Given the description of an element on the screen output the (x, y) to click on. 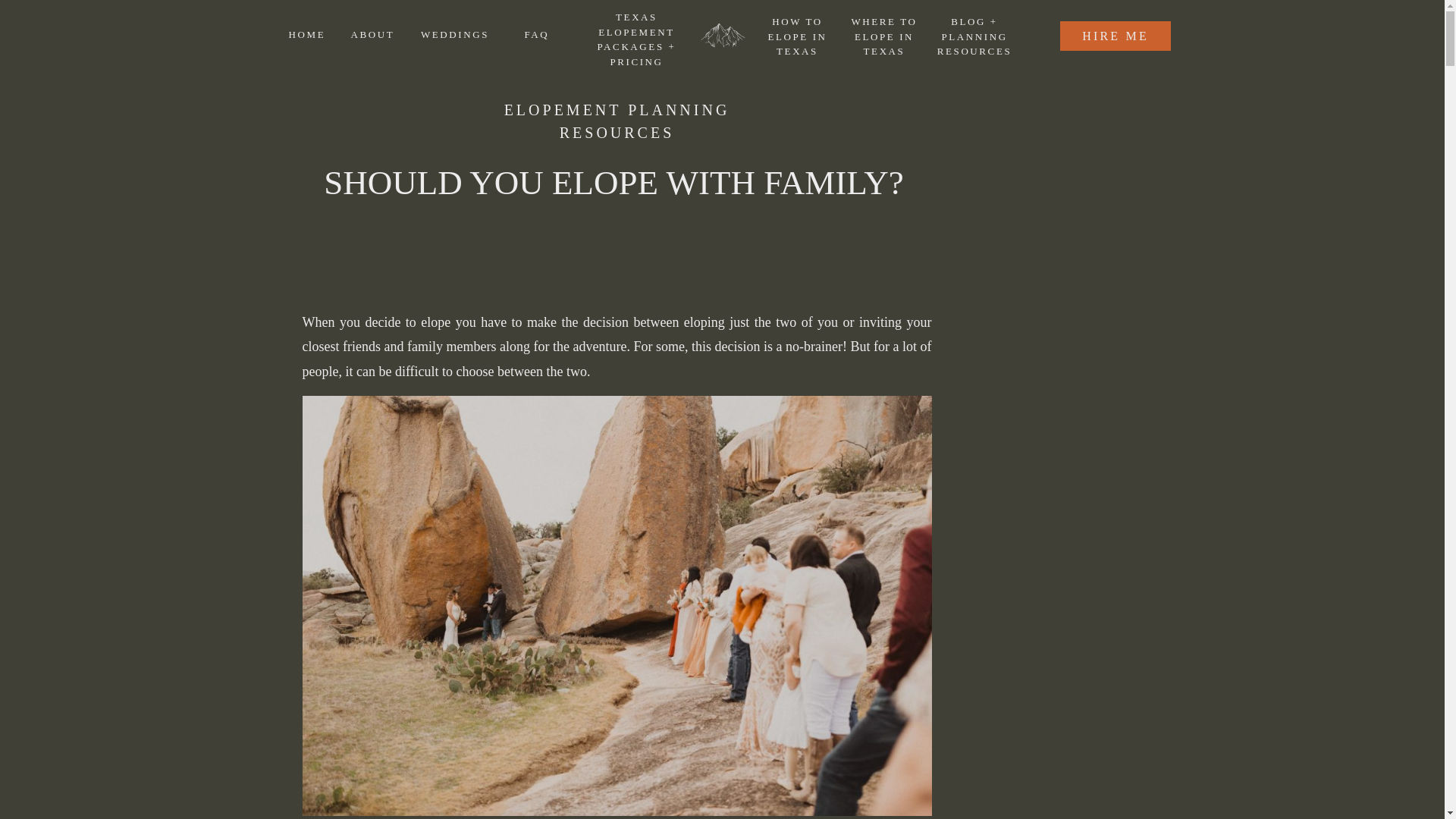
WHERE TO ELOPE IN TEXAS (884, 35)
HIRE ME (1115, 35)
FAQ (537, 35)
HOME (309, 35)
ABOUT (376, 35)
ELOPEMENT PLANNING RESOURCES (616, 120)
HOW TO ELOPE IN TEXAS (797, 35)
WEDDINGS (453, 35)
